Given the description of an element on the screen output the (x, y) to click on. 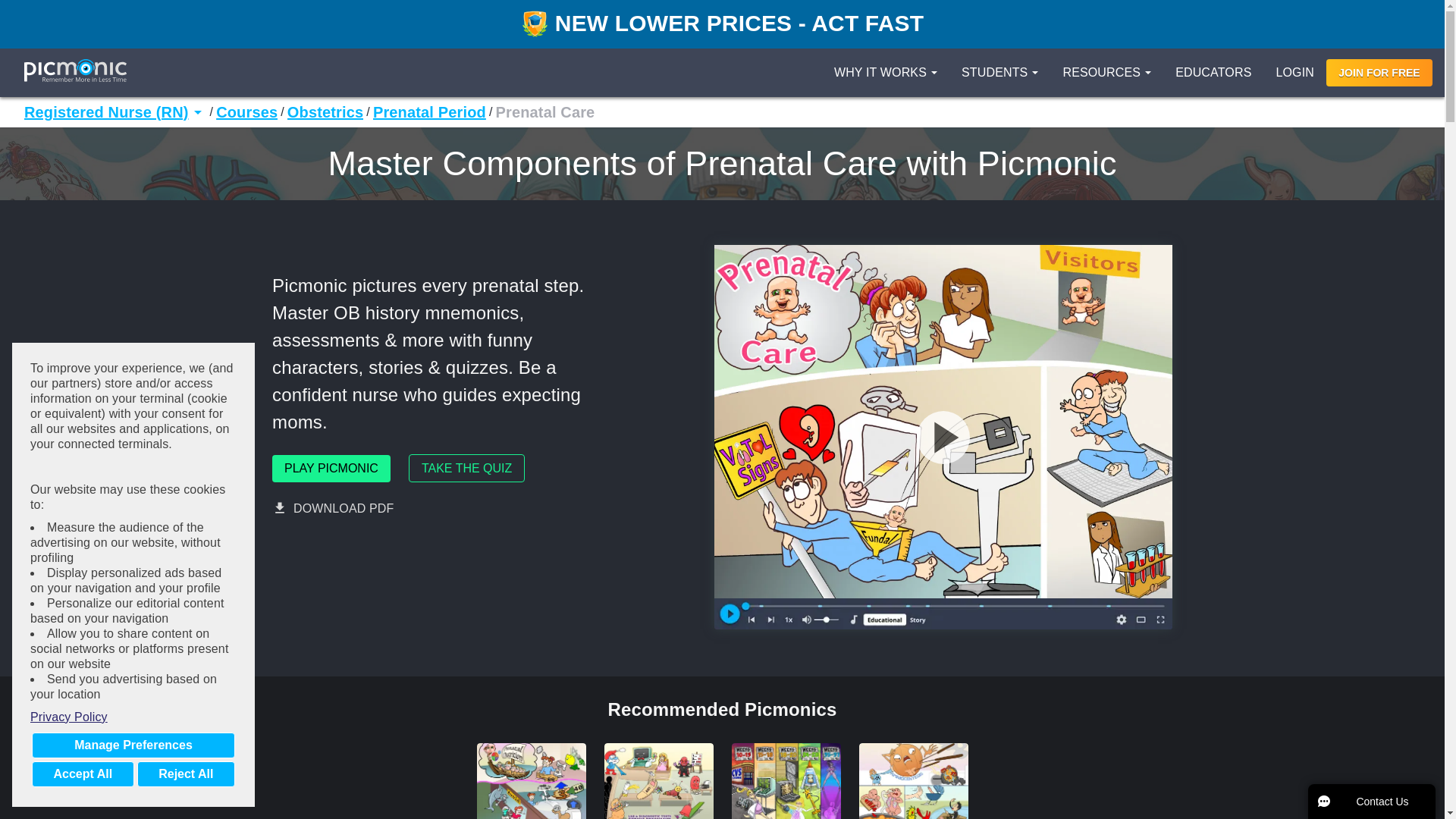
Privacy Policy (132, 717)
Reject All (185, 774)
Manage Preferences (133, 745)
Accept All (82, 774)
